Given the description of an element on the screen output the (x, y) to click on. 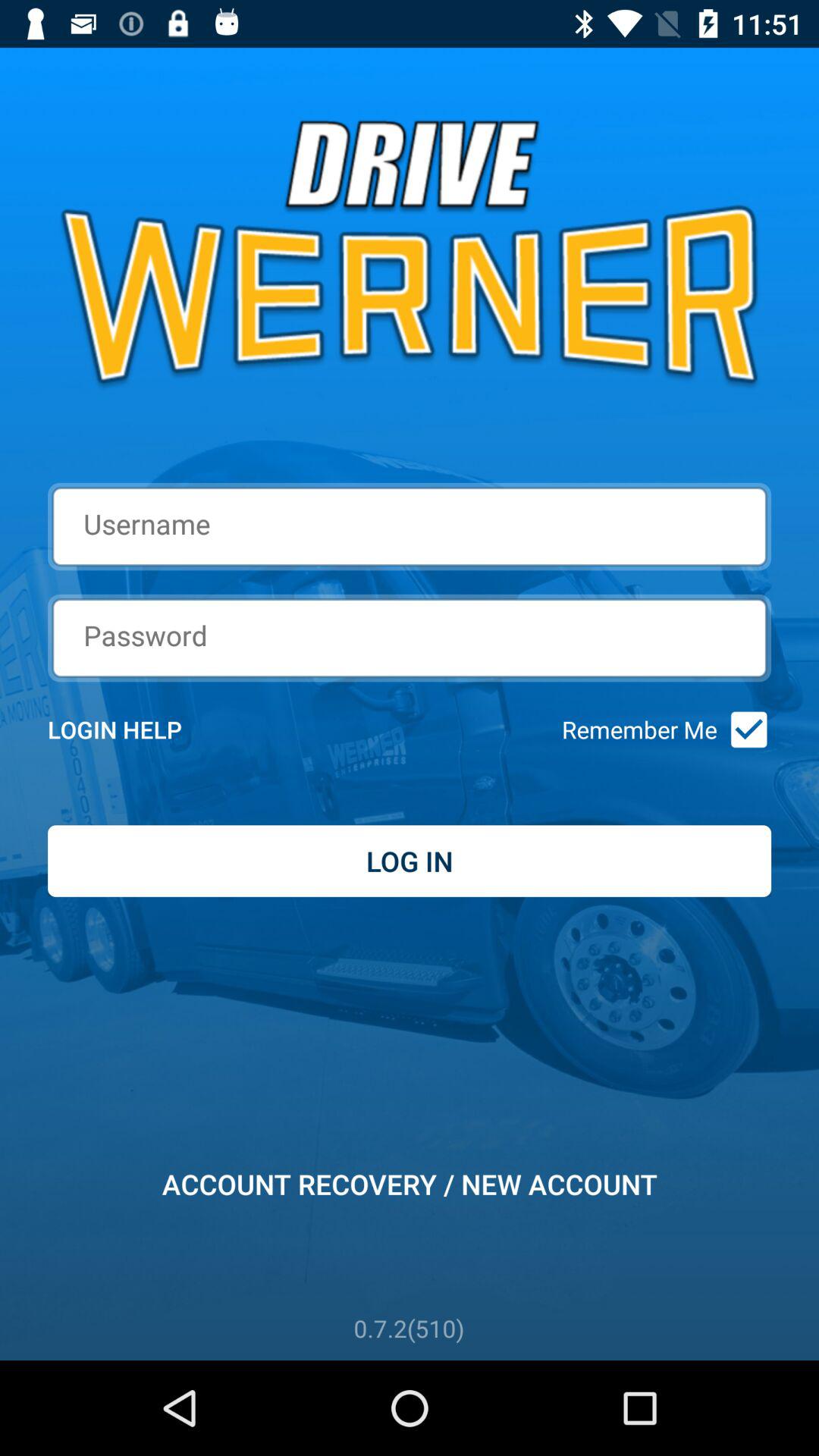
turn off the icon to the right of the remember me icon (744, 729)
